Given the description of an element on the screen output the (x, y) to click on. 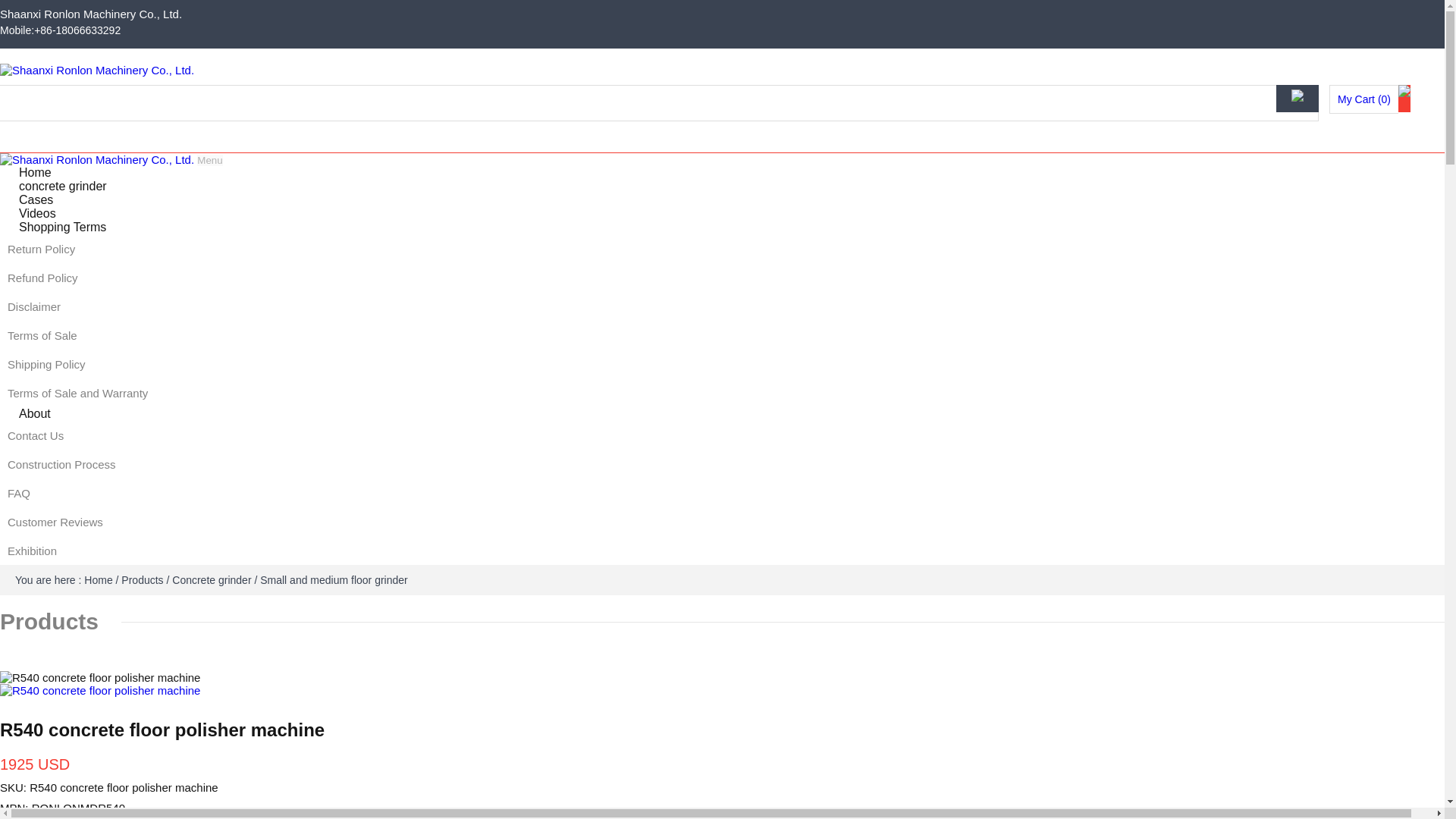
Exhibition (722, 551)
Small and medium floor grinder (333, 580)
Return Policy (722, 248)
Shipping Policy (722, 364)
Contact Us (722, 435)
Refund Policy (722, 277)
FAQ (722, 492)
Return Policy (722, 248)
Customer Reviews (722, 521)
Shipping Policy (722, 364)
